Given the description of an element on the screen output the (x, y) to click on. 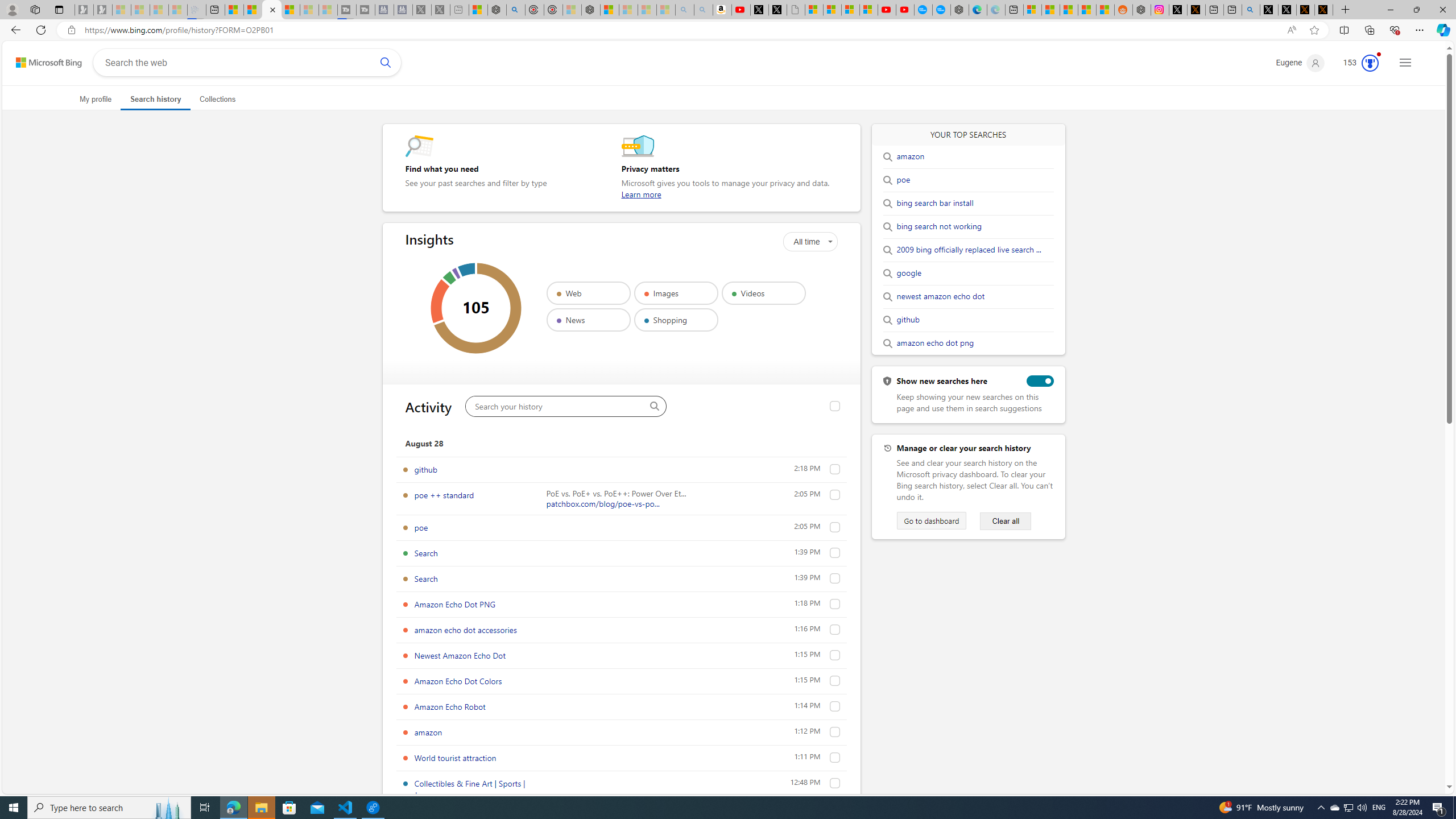
Microsoft Start - Sleeping (309, 9)
Gloom - YouTube (887, 9)
bing search not working (939, 226)
Class: el_arc partner-images (440, 301)
The most popular Google 'how to' searches (941, 9)
poe - Search (515, 9)
amazon (834, 732)
